Given the description of an element on the screen output the (x, y) to click on. 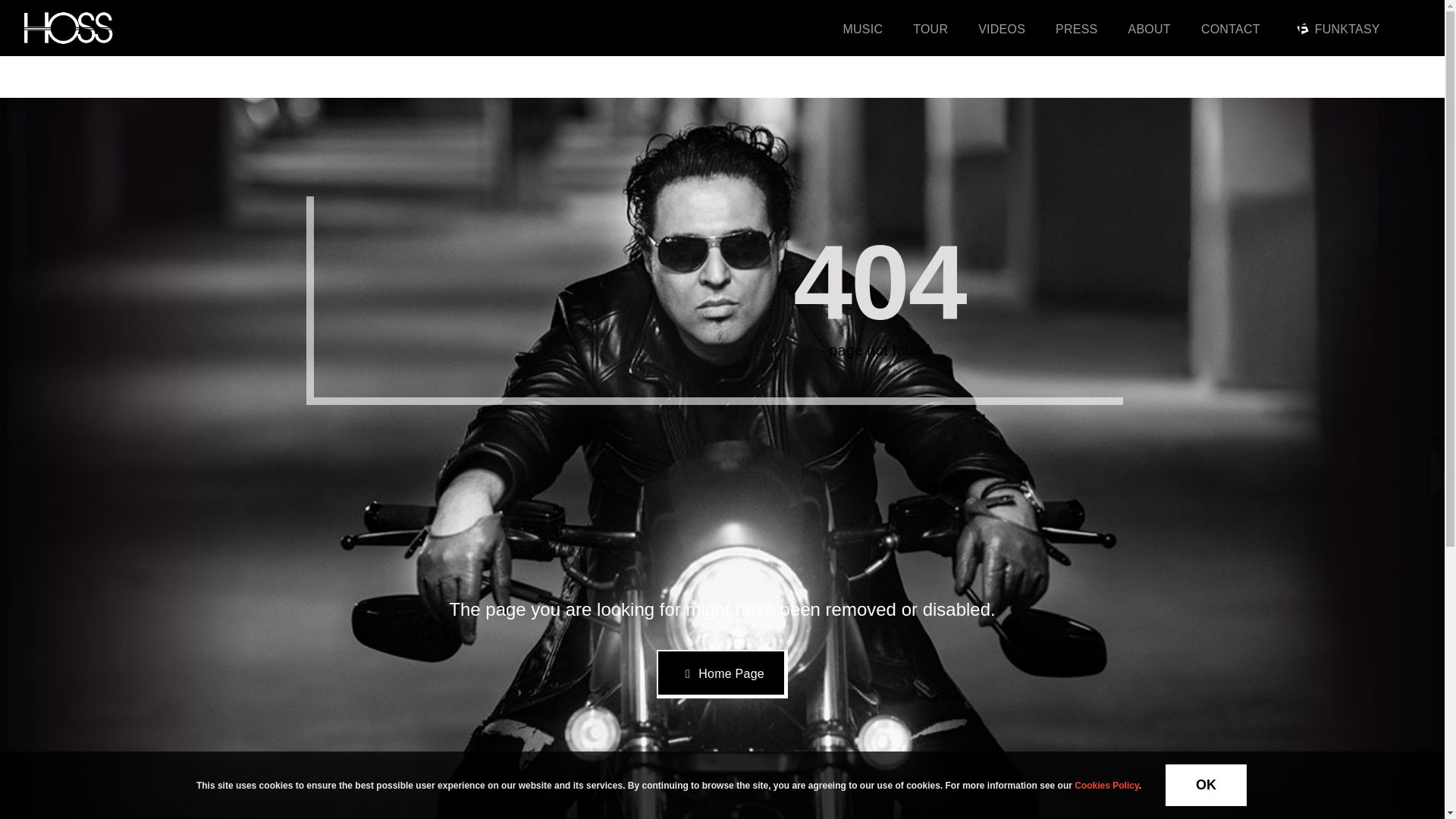
Funktasy (1302, 28)
Cookies Policy (1106, 784)
VIDEOS (1001, 28)
Home Page (721, 674)
FUNKTASY (1335, 28)
CONTACT (1230, 28)
